Given the description of an element on the screen output the (x, y) to click on. 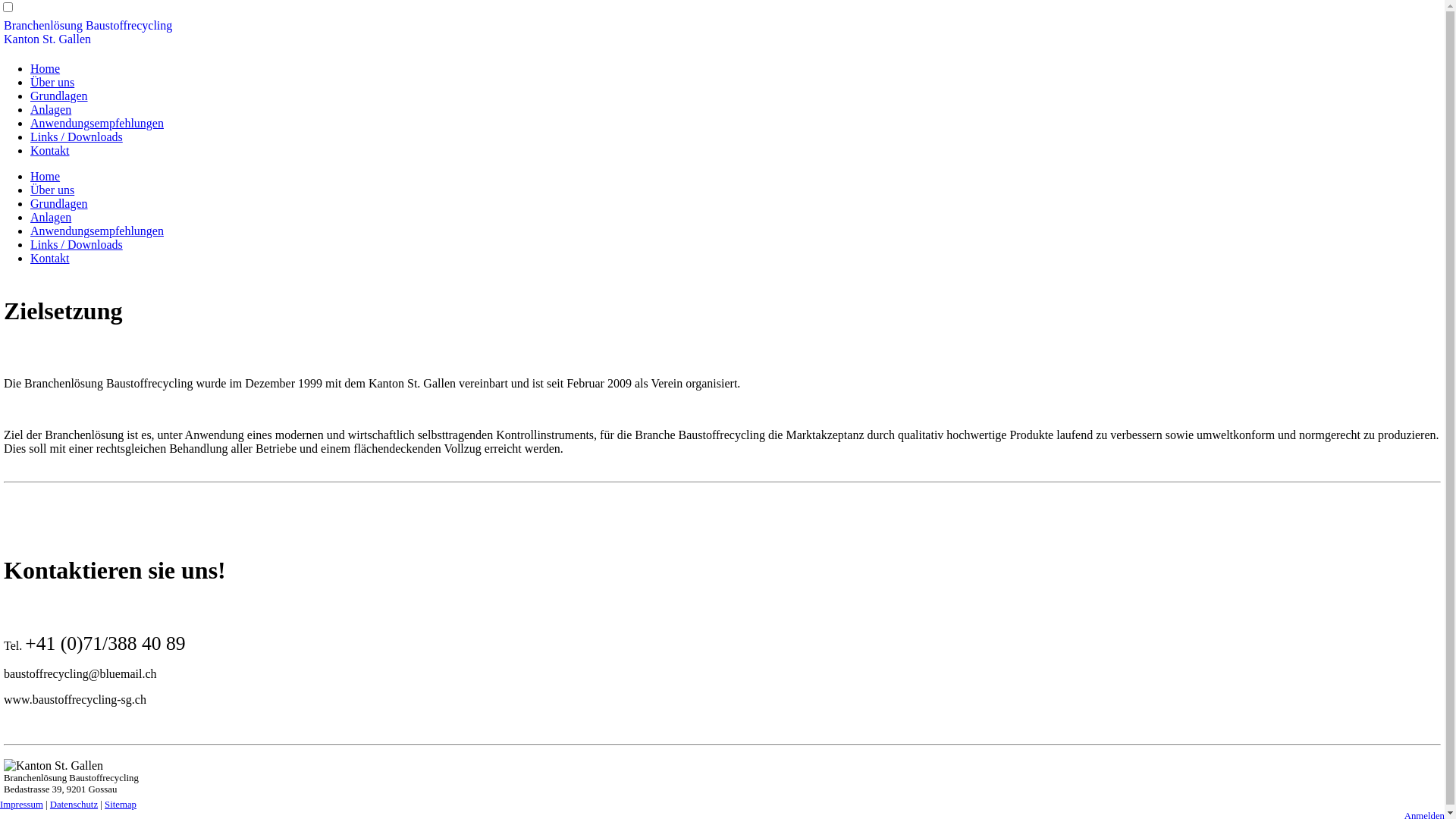
Links / Downloads Element type: text (76, 244)
Impressum Element type: text (21, 804)
Anlagen Element type: text (50, 216)
Anwendungsempfehlungen Element type: text (96, 122)
Sitemap Element type: text (120, 804)
Kontakt Element type: text (49, 257)
Grundlagen Element type: text (58, 95)
Home Element type: text (44, 175)
Anlagen Element type: text (50, 109)
Anwendungsempfehlungen Element type: text (96, 230)
Datenschutz Element type: text (73, 804)
Grundlagen Element type: text (58, 203)
Links / Downloads Element type: text (76, 136)
Kontakt Element type: text (49, 150)
Home Element type: text (44, 68)
